Given the description of an element on the screen output the (x, y) to click on. 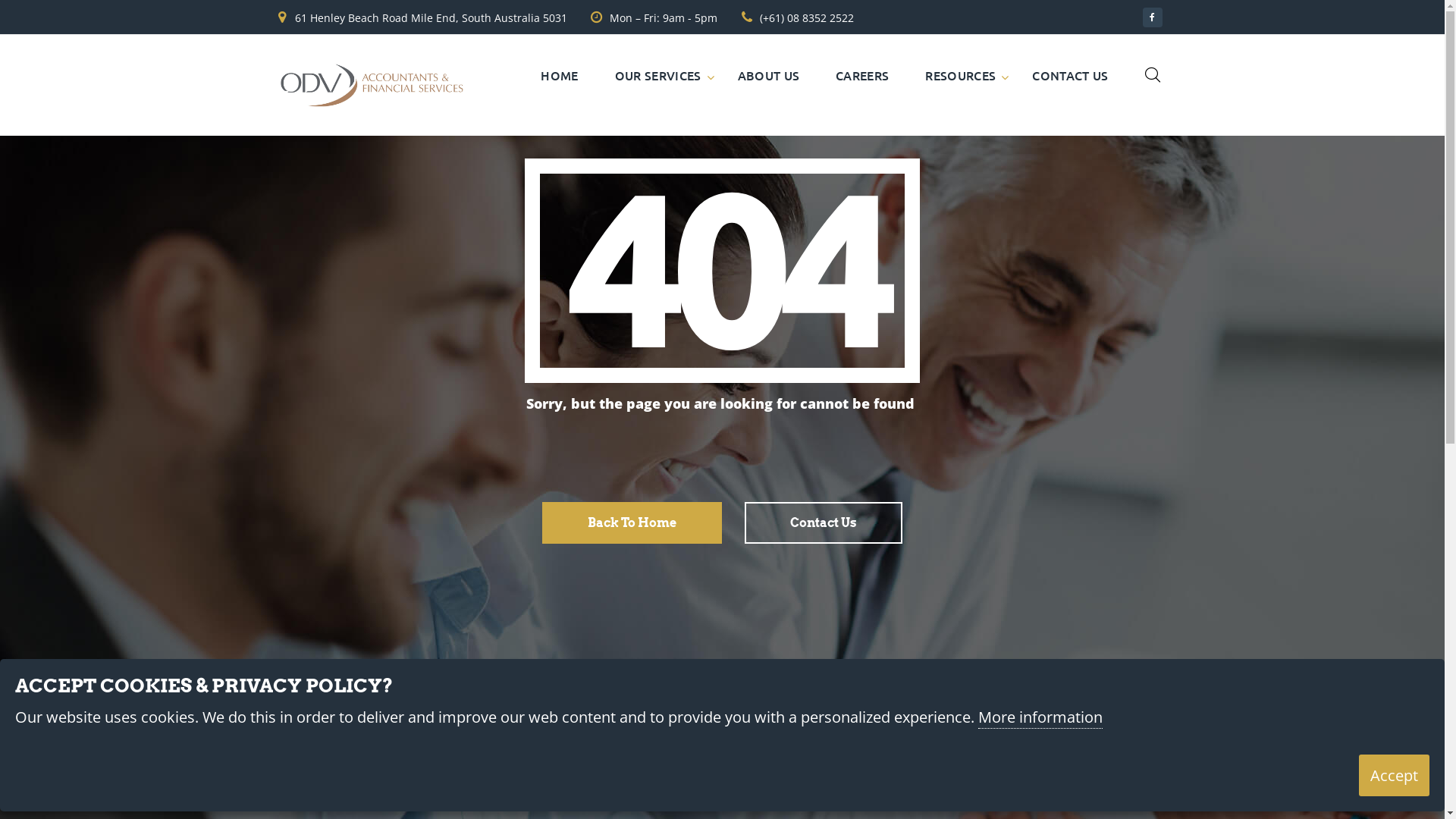
Facebook Element type: hover (1151, 17)
61 Henley Beach Road Mile End, South Australia 5031 Element type: text (430, 18)
(+61) 08 8352 2522 Element type: text (806, 18)
RESOURCES Element type: text (960, 74)
CAREERS Element type: text (861, 74)
OUR SERVICES Element type: text (658, 74)
Accept Element type: text (1393, 775)
Back To Home Element type: text (631, 522)
ABOUT US Element type: text (768, 74)
CONTACT US Element type: text (1069, 74)
HOME Element type: text (558, 74)
More information Element type: text (1040, 717)
Contact Us Element type: text (823, 522)
